Given the description of an element on the screen output the (x, y) to click on. 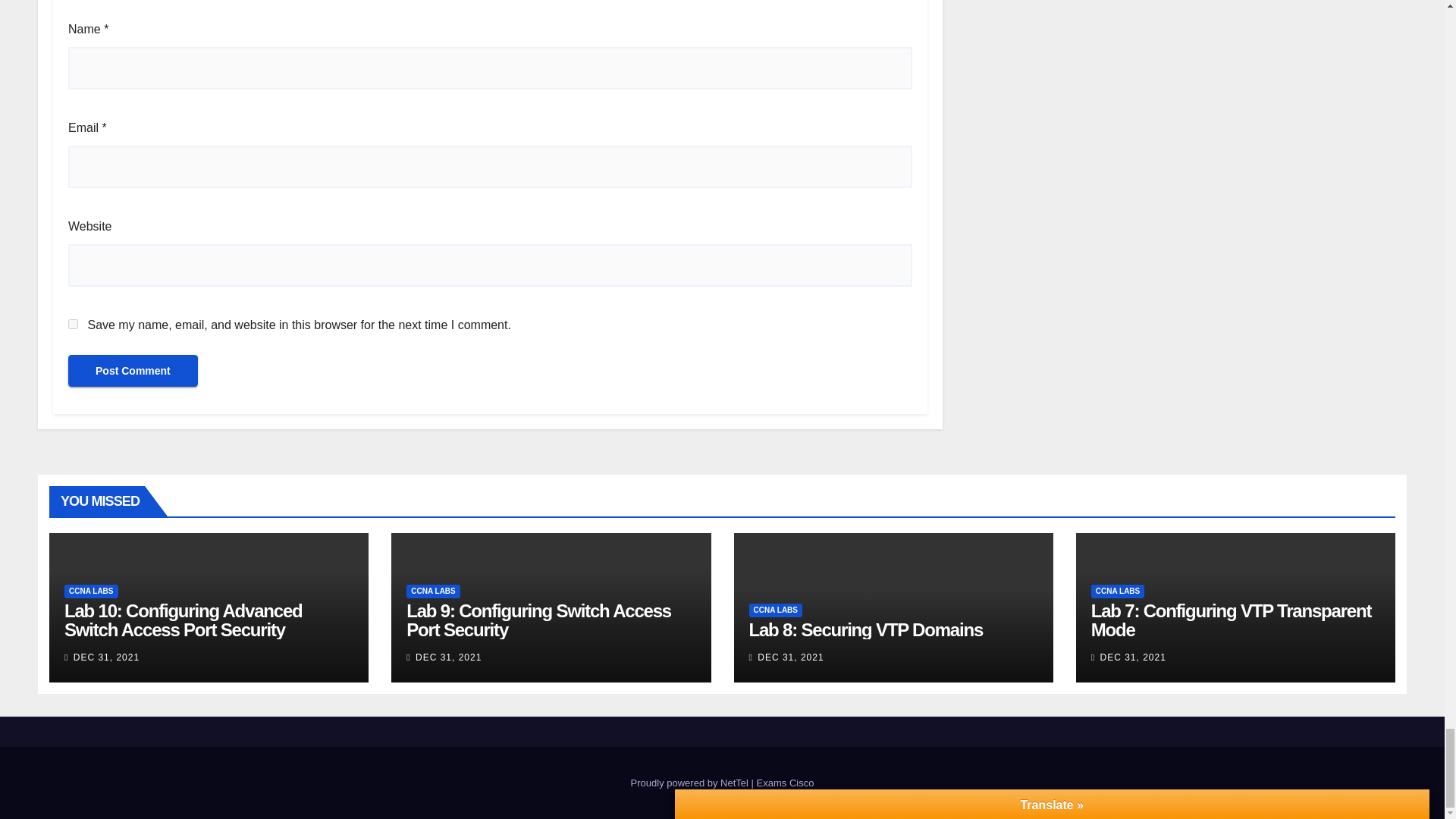
yes (73, 324)
Post Comment (133, 370)
Post Comment (133, 370)
CCNA LABS (90, 591)
